Given the description of an element on the screen output the (x, y) to click on. 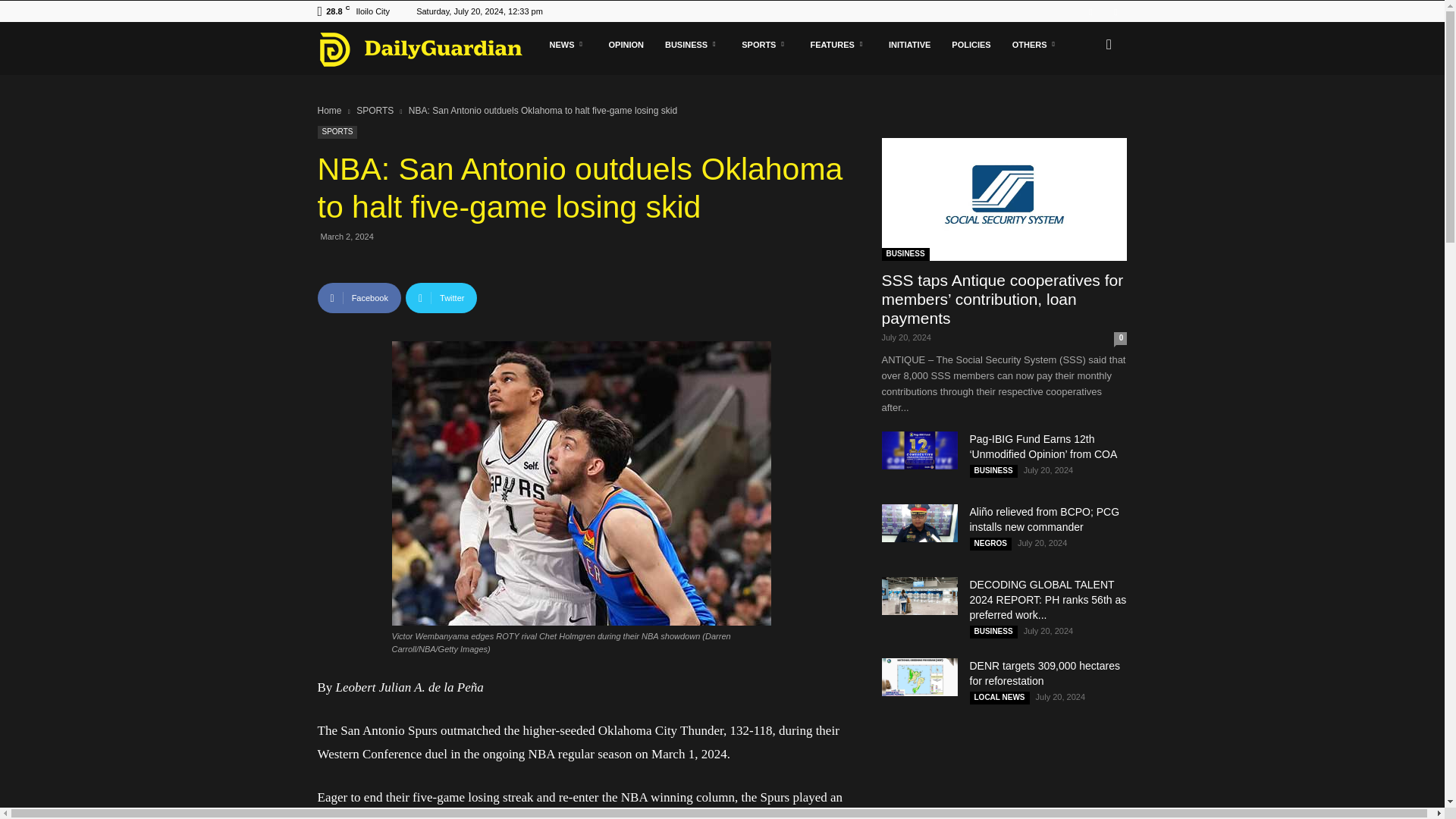
We write, you decide. (419, 48)
Daily Guardian (427, 48)
NEWS (567, 44)
Facebook (1090, 11)
Twitter (1114, 11)
